Given the description of an element on the screen output the (x, y) to click on. 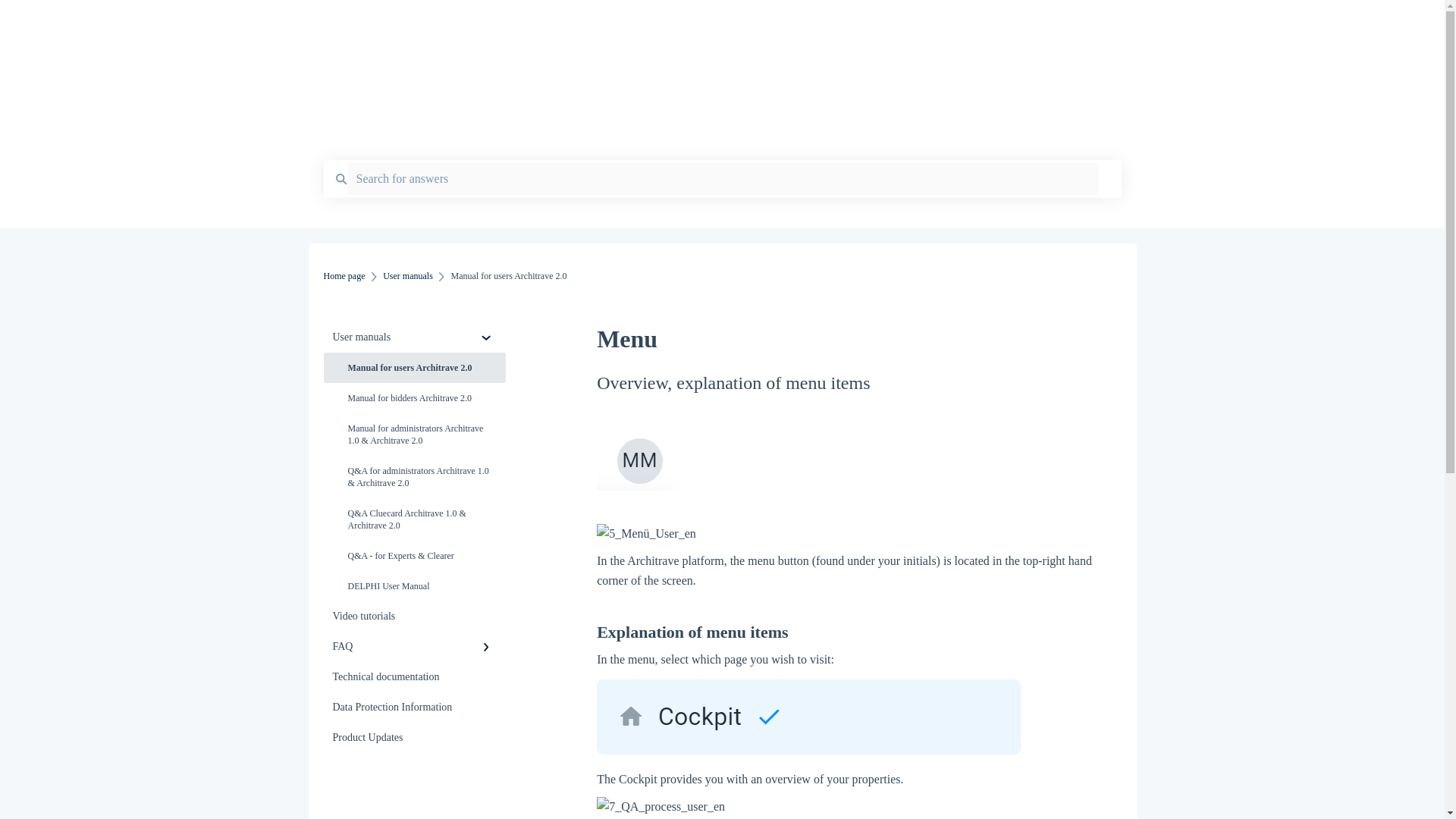
User manuals (414, 337)
Video tutorials (414, 616)
Home page (344, 276)
Manual for users Architrave 2.0 (414, 367)
Go to architrave.de (1062, 25)
User manuals (407, 276)
Manual for bidders Architrave 2.0 (414, 398)
FAQ (414, 646)
Home page (660, 21)
English (953, 25)
